Given the description of an element on the screen output the (x, y) to click on. 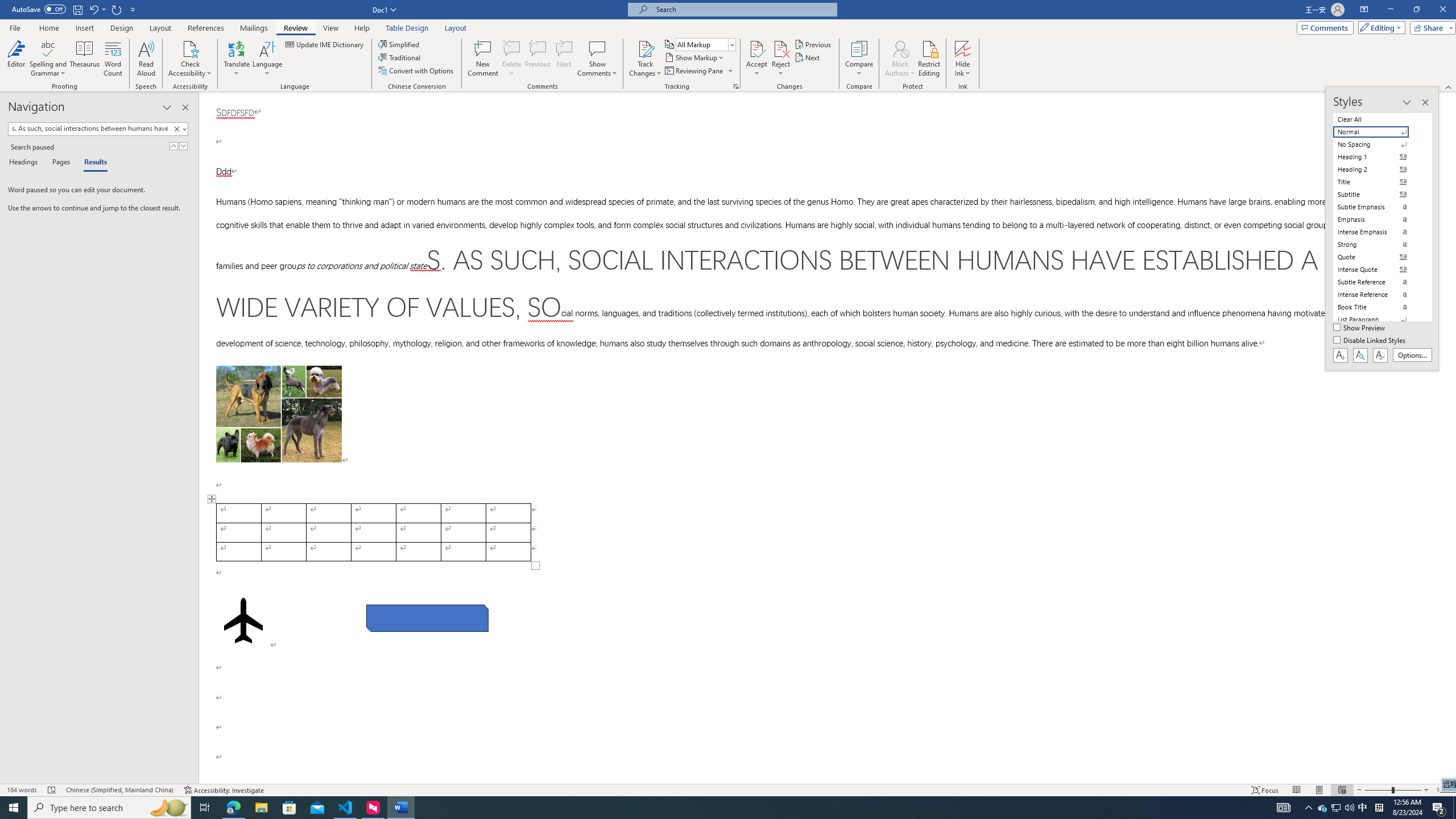
Clear (176, 128)
Word Count (113, 58)
Subtle Reference (1377, 282)
Hide Ink (962, 48)
Reject (780, 58)
Translate (236, 58)
Disable Linked Styles (1370, 340)
